Given the description of an element on the screen output the (x, y) to click on. 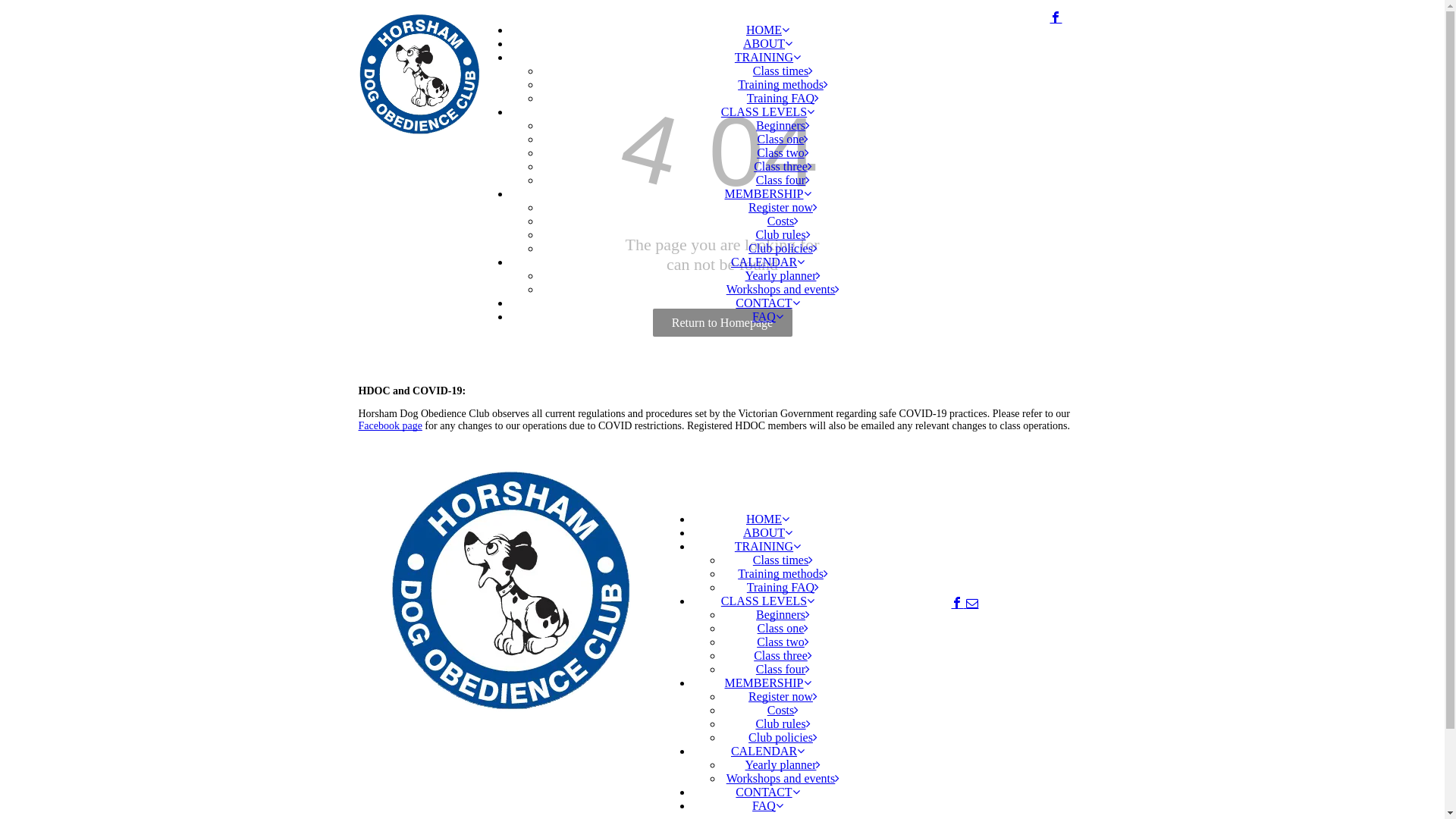
Return to Homepage Element type: text (721, 322)
Yearly planner Element type: text (783, 764)
Class times Element type: text (782, 559)
ABOUT Element type: text (767, 43)
Beginners Element type: text (782, 125)
Facebook page Element type: text (389, 425)
MEMBERSHIP Element type: text (767, 193)
Class four Element type: text (782, 179)
CALENDAR Element type: text (767, 750)
Workshops and events Element type: text (783, 777)
CLASS LEVELS Element type: text (767, 600)
Class times Element type: text (782, 70)
CONTACT Element type: text (767, 302)
Club policies Element type: text (782, 737)
Club rules Element type: text (782, 723)
Class four Element type: text (782, 668)
Register now Element type: text (782, 696)
Register now Element type: text (782, 206)
CALENDAR Element type: text (767, 261)
Class two Element type: text (782, 641)
Training methods Element type: text (782, 573)
Training methods Element type: text (782, 84)
Class two Element type: text (782, 152)
Class three Element type: text (782, 655)
Class one Element type: text (783, 138)
Costs Element type: text (783, 220)
Workshops and events Element type: text (783, 288)
Training FAQ Element type: text (782, 97)
Training FAQ Element type: text (782, 586)
TRAINING Element type: text (767, 545)
ABOUT Element type: text (767, 532)
MEMBERSHIP Element type: text (767, 682)
Yearly planner Element type: text (783, 275)
Club policies Element type: text (782, 247)
HOME Element type: text (767, 29)
Class one Element type: text (783, 627)
FAQ Element type: text (767, 316)
CLASS LEVELS Element type: text (767, 111)
CONTACT Element type: text (767, 791)
FAQ Element type: text (767, 805)
Beginners Element type: text (782, 614)
HOME Element type: text (767, 518)
TRAINING Element type: text (767, 56)
Club rules Element type: text (782, 234)
Class three Element type: text (782, 166)
Costs Element type: text (783, 709)
